Given the description of an element on the screen output the (x, y) to click on. 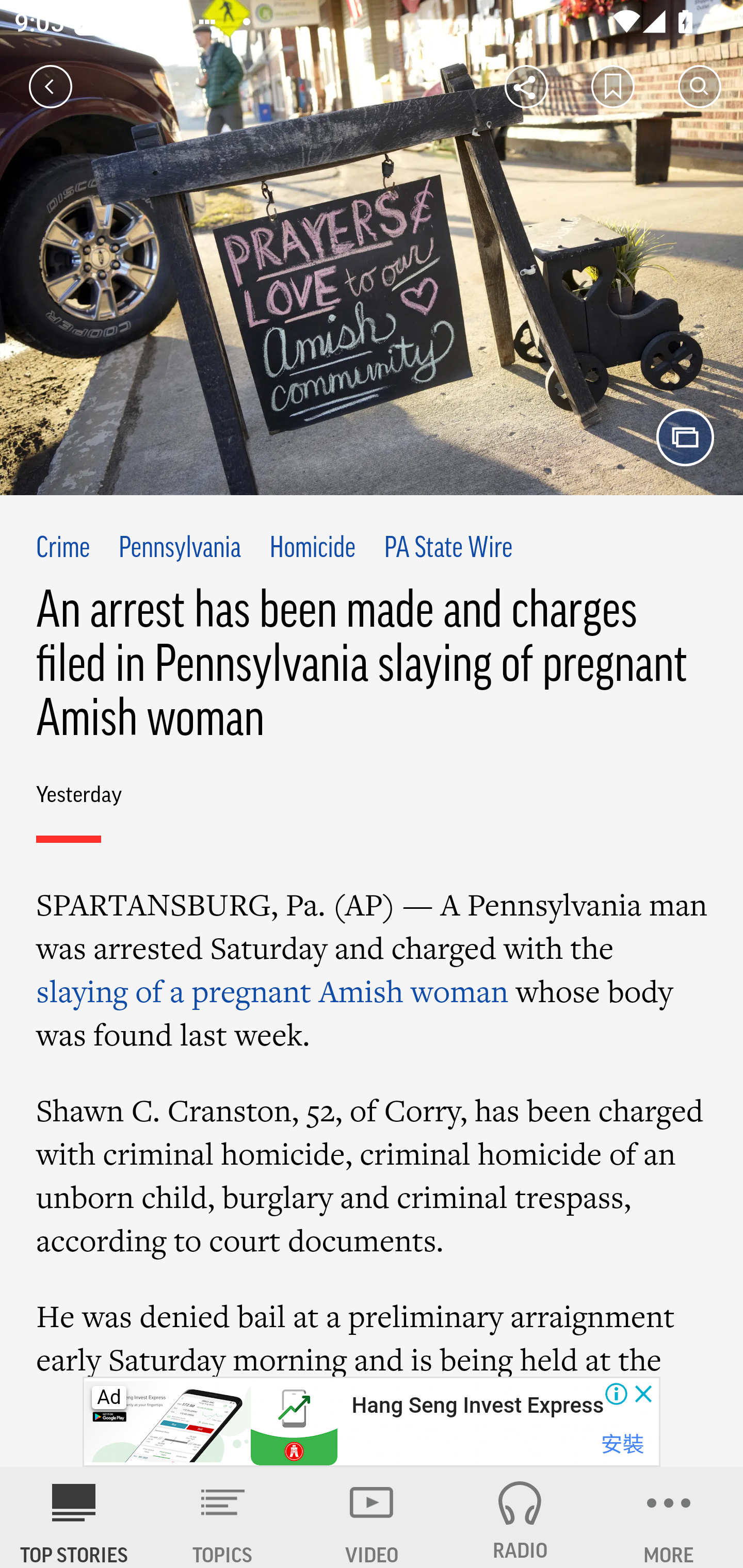
Crime (64, 549)
Pennsylvania (179, 549)
Homicide (312, 549)
PA State Wire (447, 549)
slaying of a pregnant Amish woman (272, 989)
Hang Seng Invest Express (476, 1405)
安裝 (621, 1444)
AP News TOP STORIES (74, 1517)
TOPICS (222, 1517)
VIDEO (371, 1517)
RADIO (519, 1517)
MORE (668, 1517)
